Given the description of an element on the screen output the (x, y) to click on. 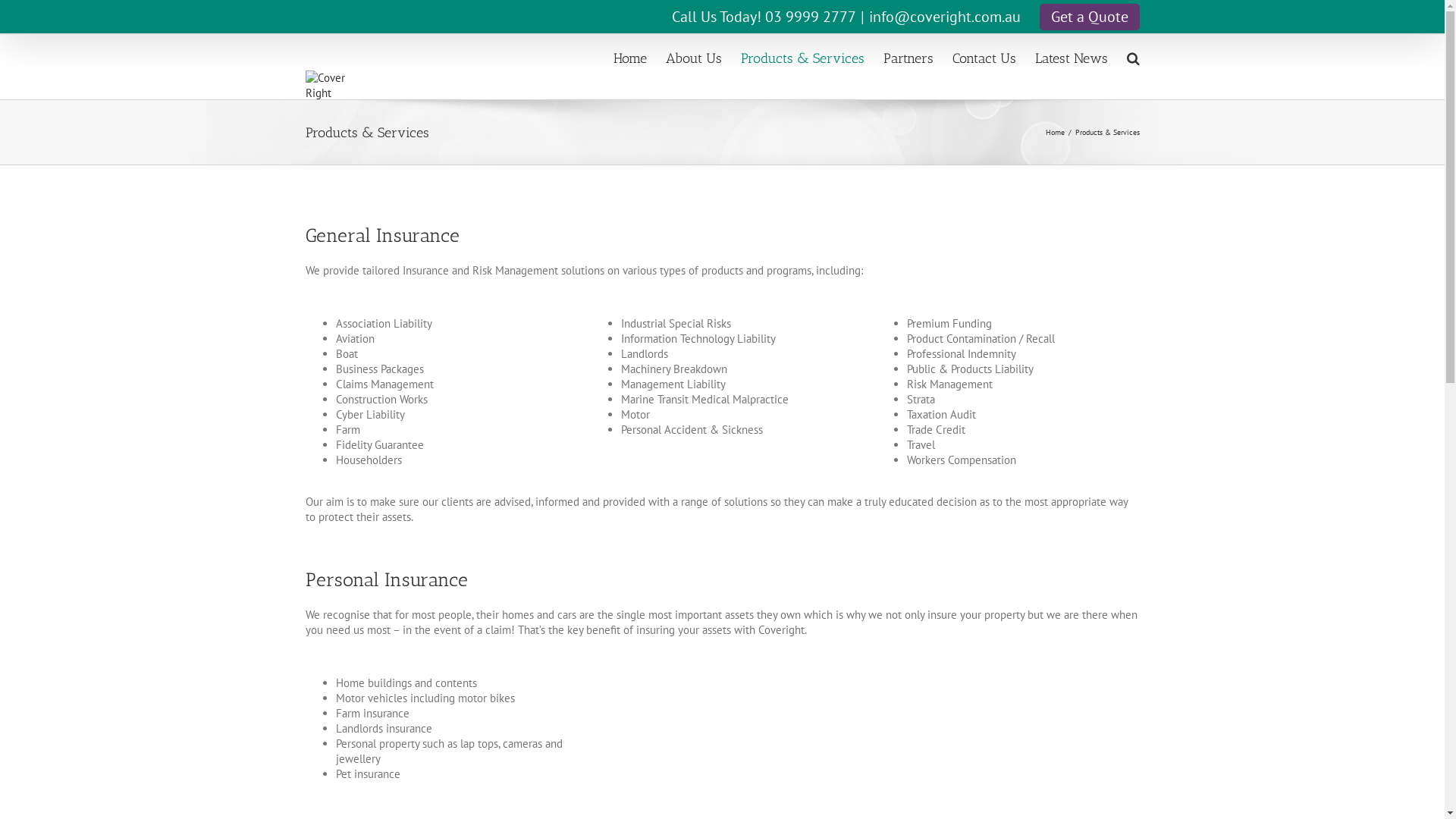
About Us Element type: text (693, 57)
Products & Services Element type: text (801, 57)
info@coveright.com.au Element type: text (944, 16)
Latest News Element type: text (1070, 57)
Partners Element type: text (907, 57)
Home Element type: text (629, 57)
Contact Us Element type: text (984, 57)
Home Element type: text (1053, 132)
